Given the description of an element on the screen output the (x, y) to click on. 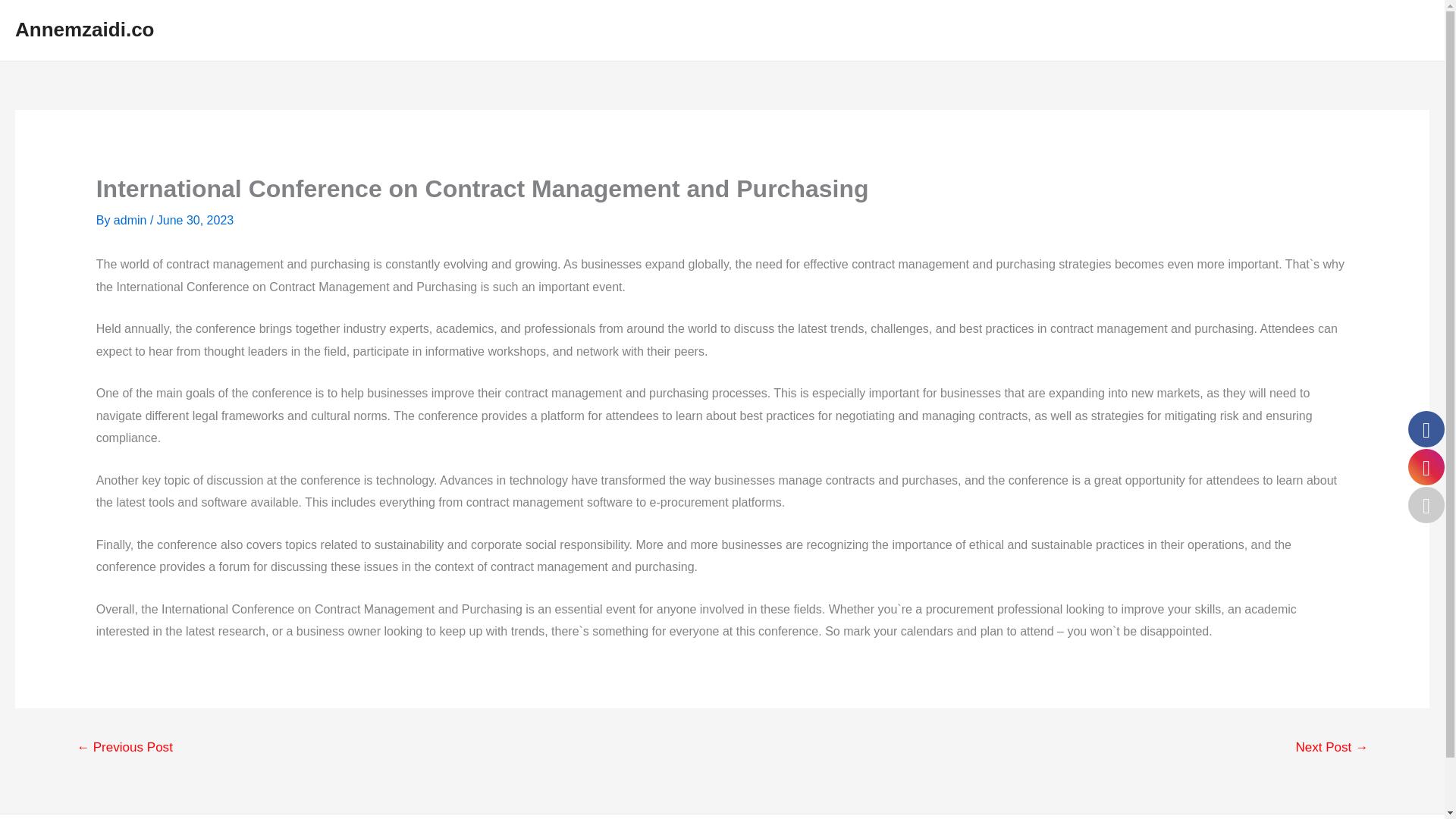
Annemzaidi.co (84, 29)
admin (131, 219)
View all posts by admin (131, 219)
